Given the description of an element on the screen output the (x, y) to click on. 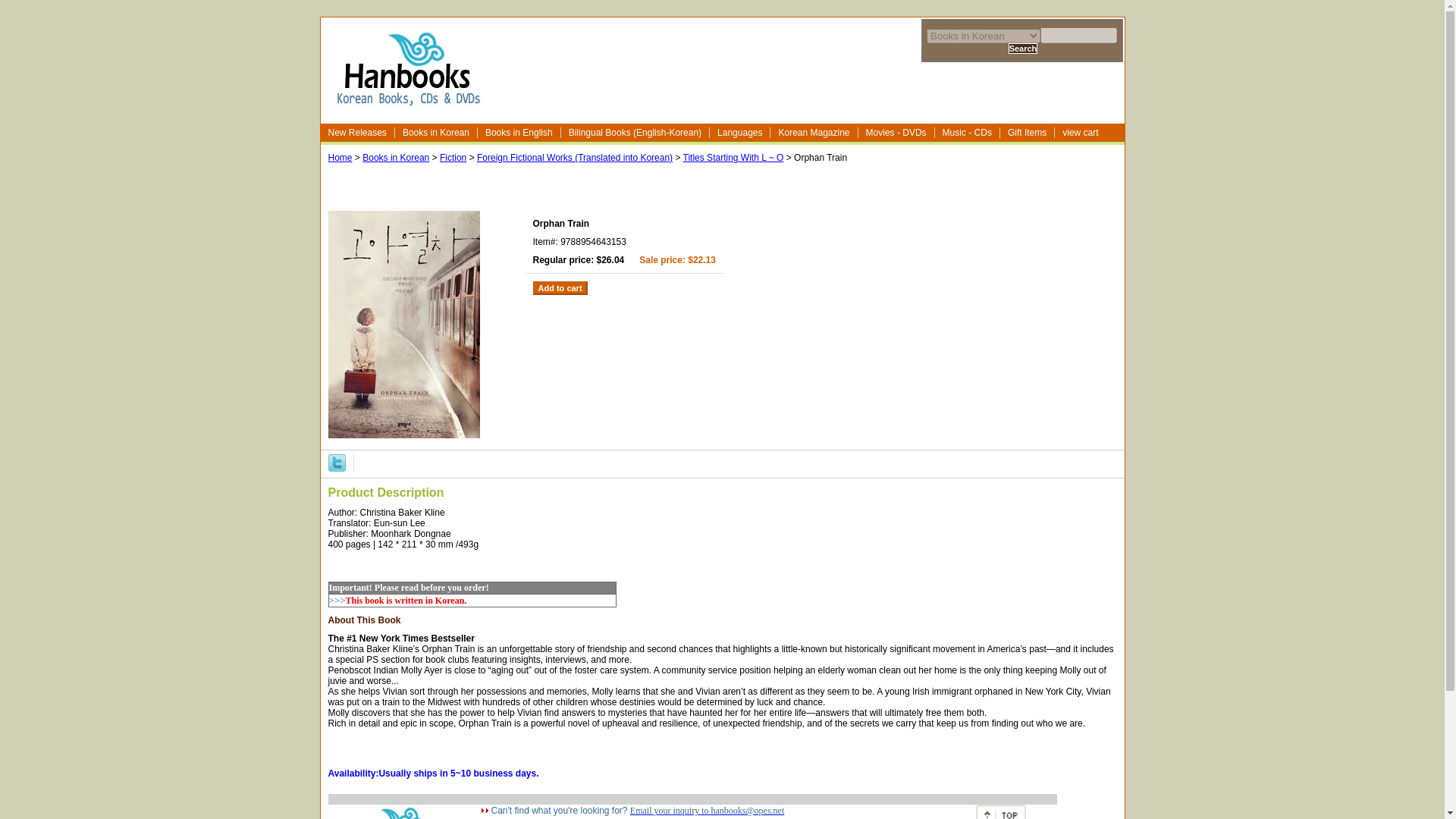
Search (1023, 48)
Gift Items (1027, 132)
Add to cart (559, 287)
Music - CDs (967, 132)
Add to cart (559, 287)
Books in English (518, 132)
Books in Korean (435, 132)
Movies - DVDs (896, 132)
Books in English (518, 132)
view cart (1081, 132)
